Given the description of an element on the screen output the (x, y) to click on. 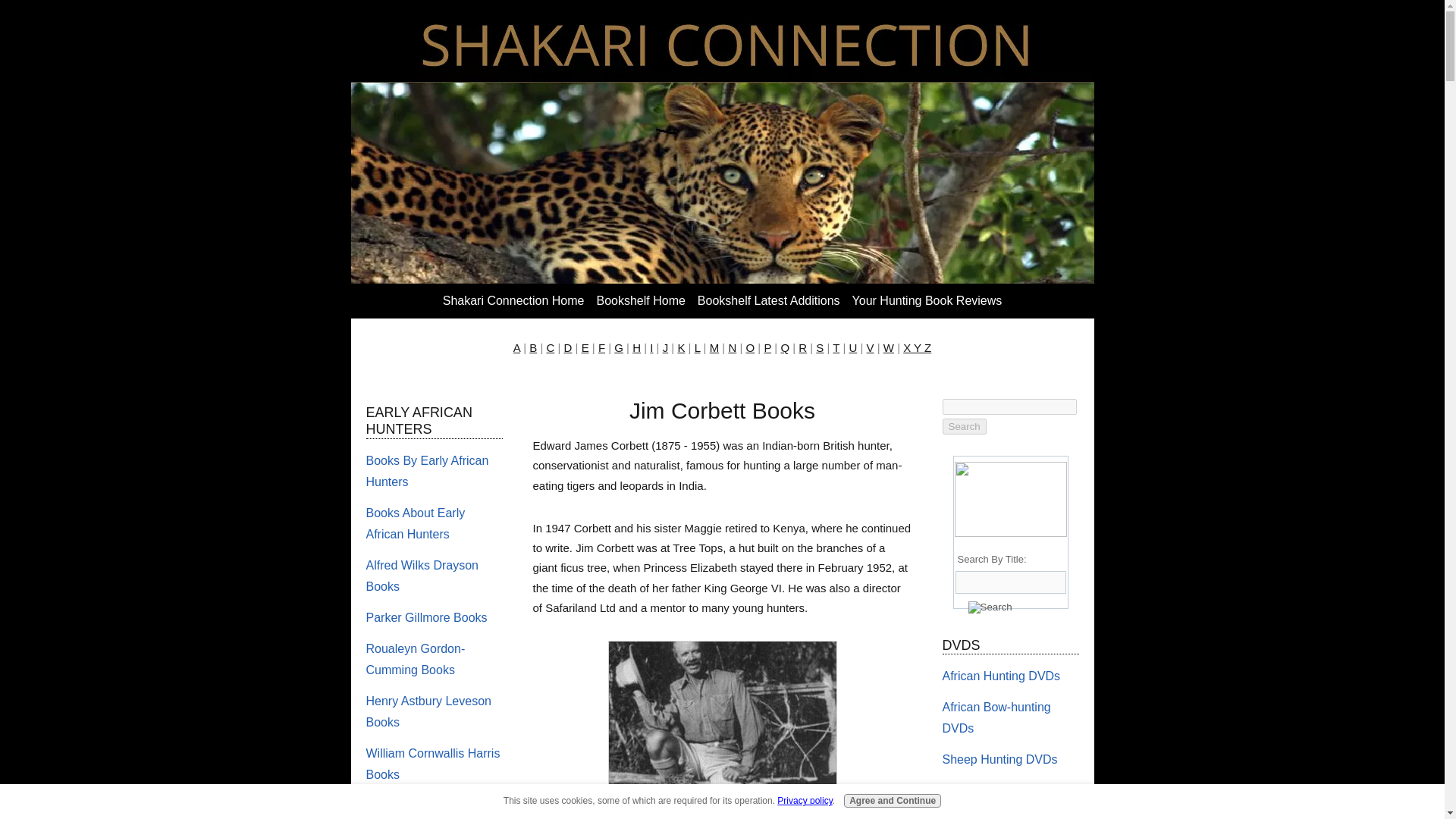
Bookshelf Home (639, 300)
Bookshelf Latest Additions (768, 300)
Search (963, 426)
Shakari Connection Home (513, 300)
Your Hunting Book Reviews (927, 300)
Jim Corbett (722, 729)
X Y Z (916, 347)
